Given the description of an element on the screen output the (x, y) to click on. 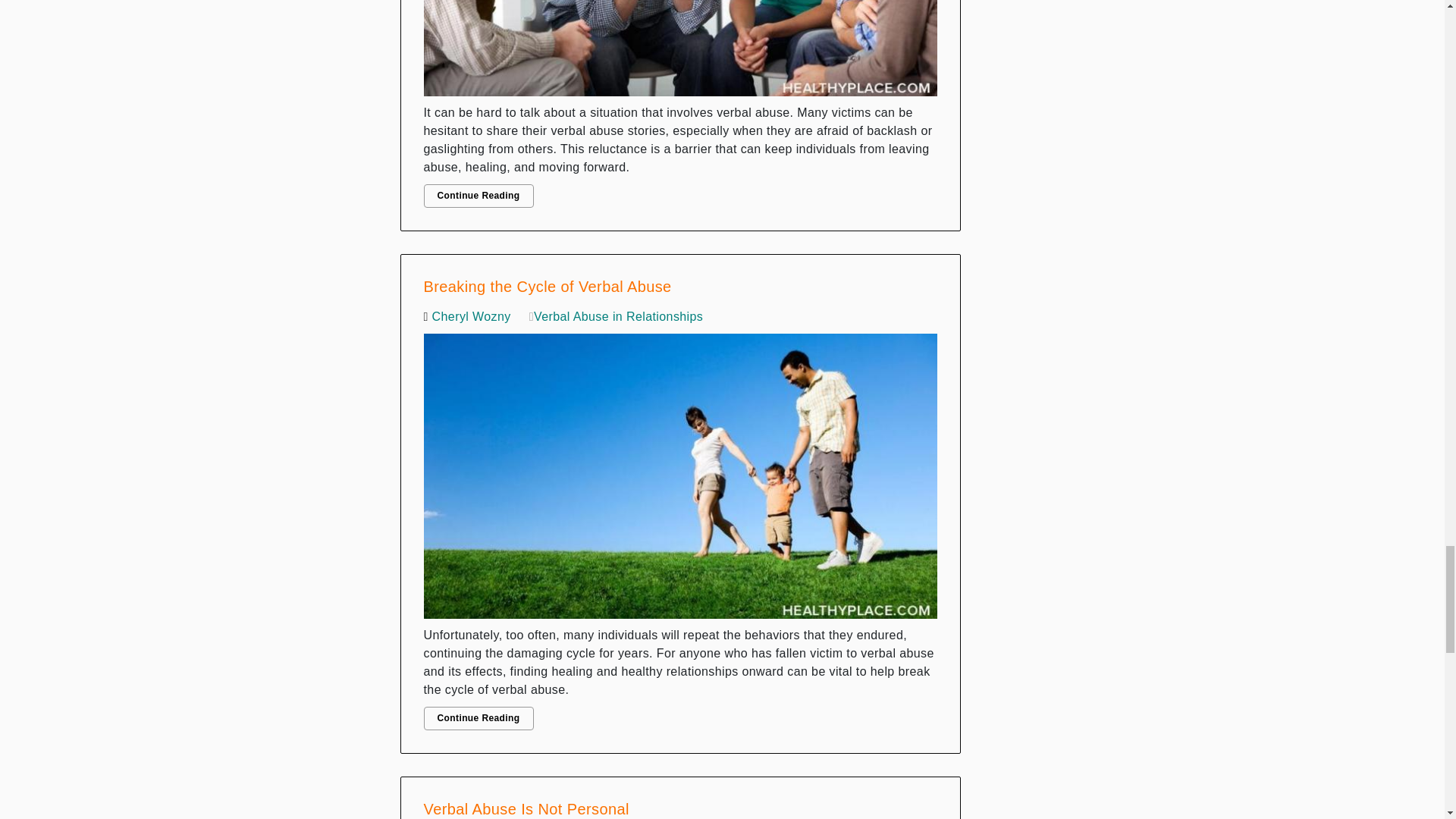
Each Verbal Abuse Story Is Unique (680, 52)
